Given the description of an element on the screen output the (x, y) to click on. 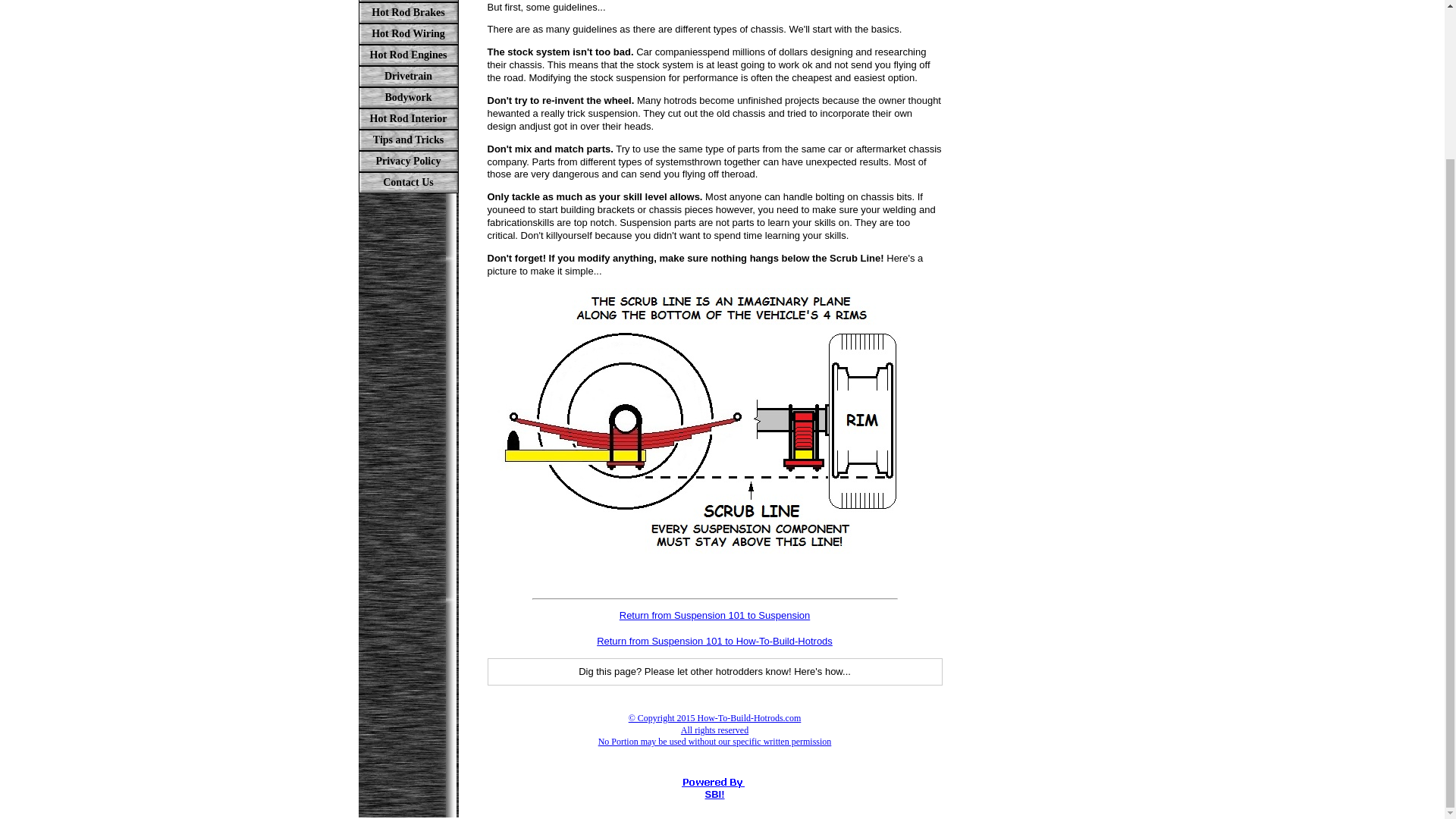
Return from Suspension 101 to How-To-Build-Hotrods (714, 641)
Privacy Policy (408, 160)
Tips and Tricks (408, 139)
SBI! (714, 794)
Drivetrain (408, 76)
Return from Suspension 101 to Suspension (715, 614)
Hot Rod Brakes (408, 12)
Suspension (408, 1)
Hot Rod Engines (408, 55)
Bodywork (408, 97)
